Given the description of an element on the screen output the (x, y) to click on. 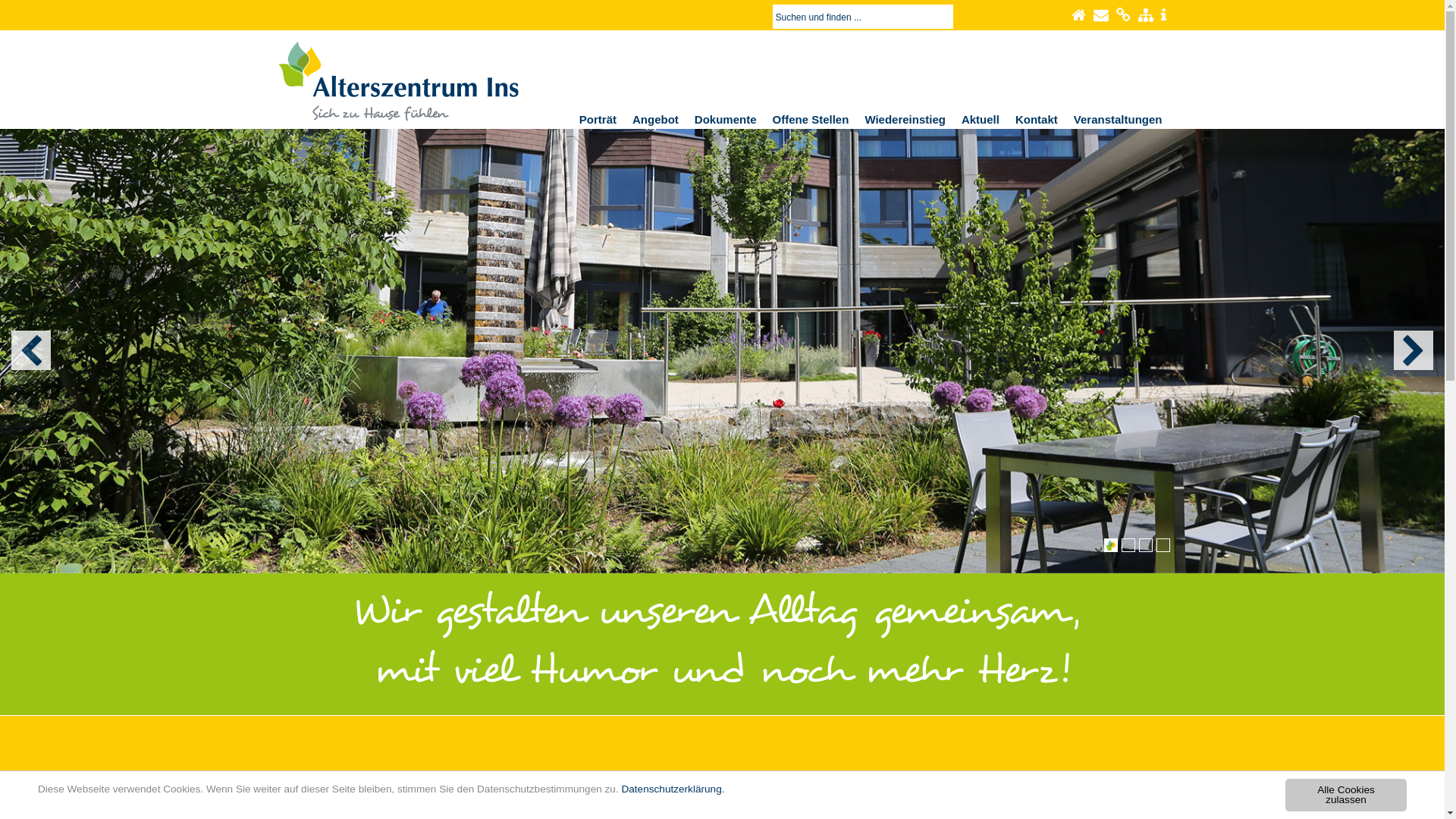
Alle Cookies zulassen Element type: text (1345, 794)
Offene Stellen Element type: text (810, 118)
Home Element type: hover (1077, 14)
Kontakt Element type: text (1036, 118)
Sitemap Element type: hover (1144, 14)
Angebot Element type: text (655, 118)
Impressum & Datenschutz Element type: hover (1162, 14)
Dokumente Element type: text (725, 118)
Ansicht Alterszentrum Ins Element type: hover (722, 350)
Kontakt2 Element type: hover (1100, 14)
Aktuell Element type: text (980, 118)
Veranstaltungen Element type: text (1118, 118)
Wiedereinstieg Element type: text (904, 118)
Links Element type: hover (1123, 14)
